Given the description of an element on the screen output the (x, y) to click on. 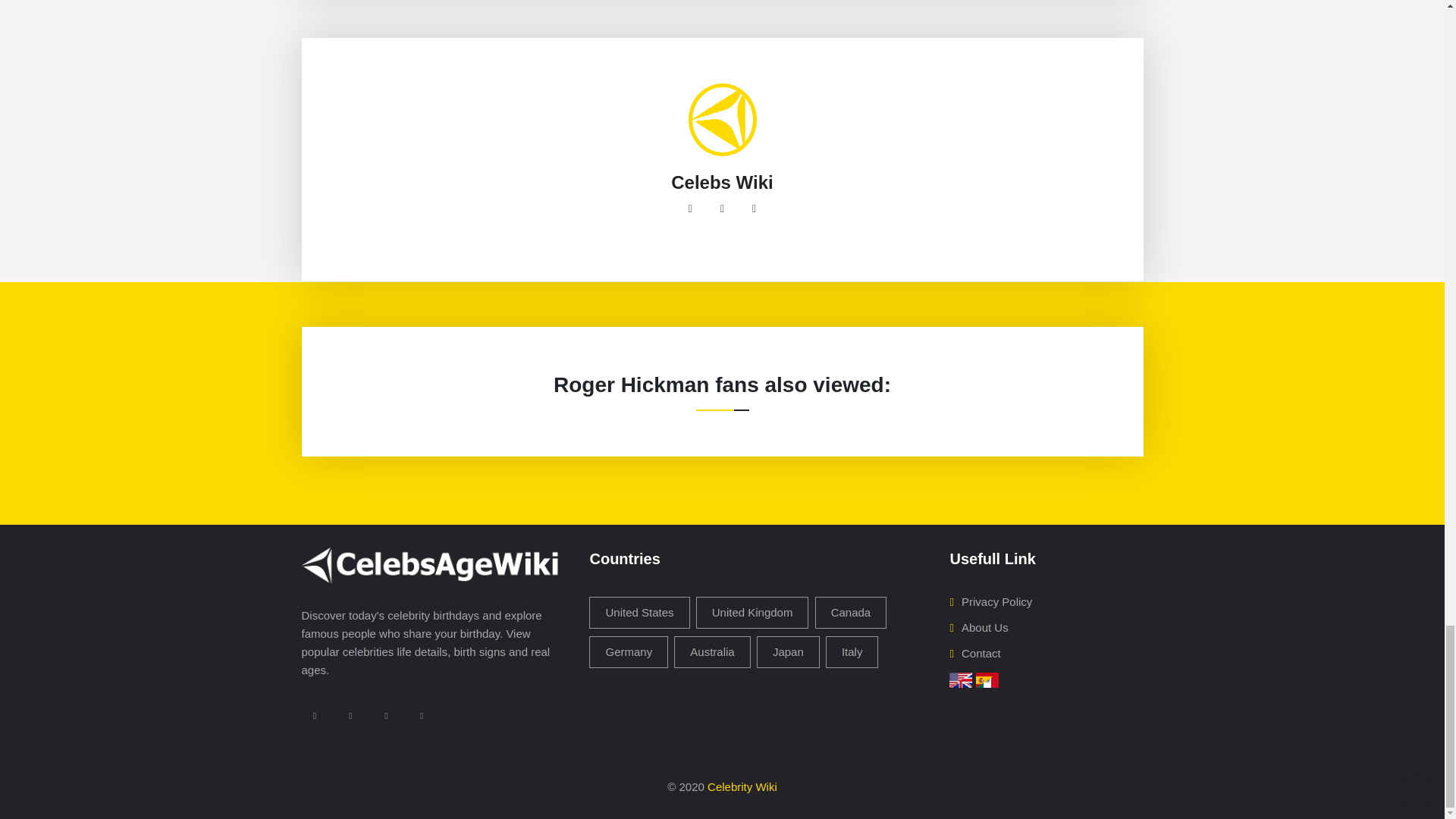
Celebs Wiki (722, 182)
United States (638, 612)
Spanish (986, 678)
English (960, 678)
